Given the description of an element on the screen output the (x, y) to click on. 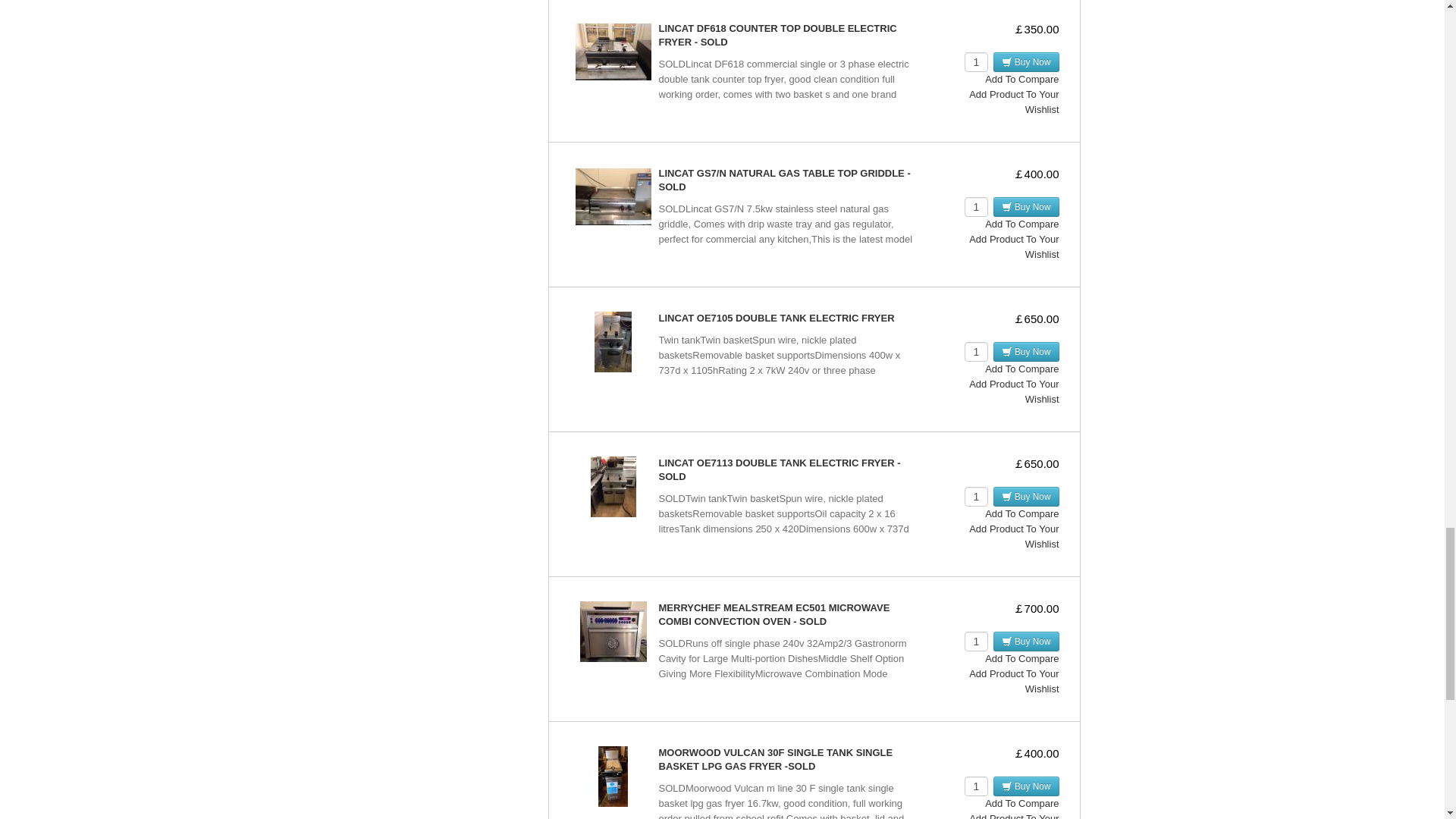
1 (975, 641)
1 (975, 351)
1 (975, 62)
1 (975, 496)
1 (975, 207)
1 (975, 786)
